Given the description of an element on the screen output the (x, y) to click on. 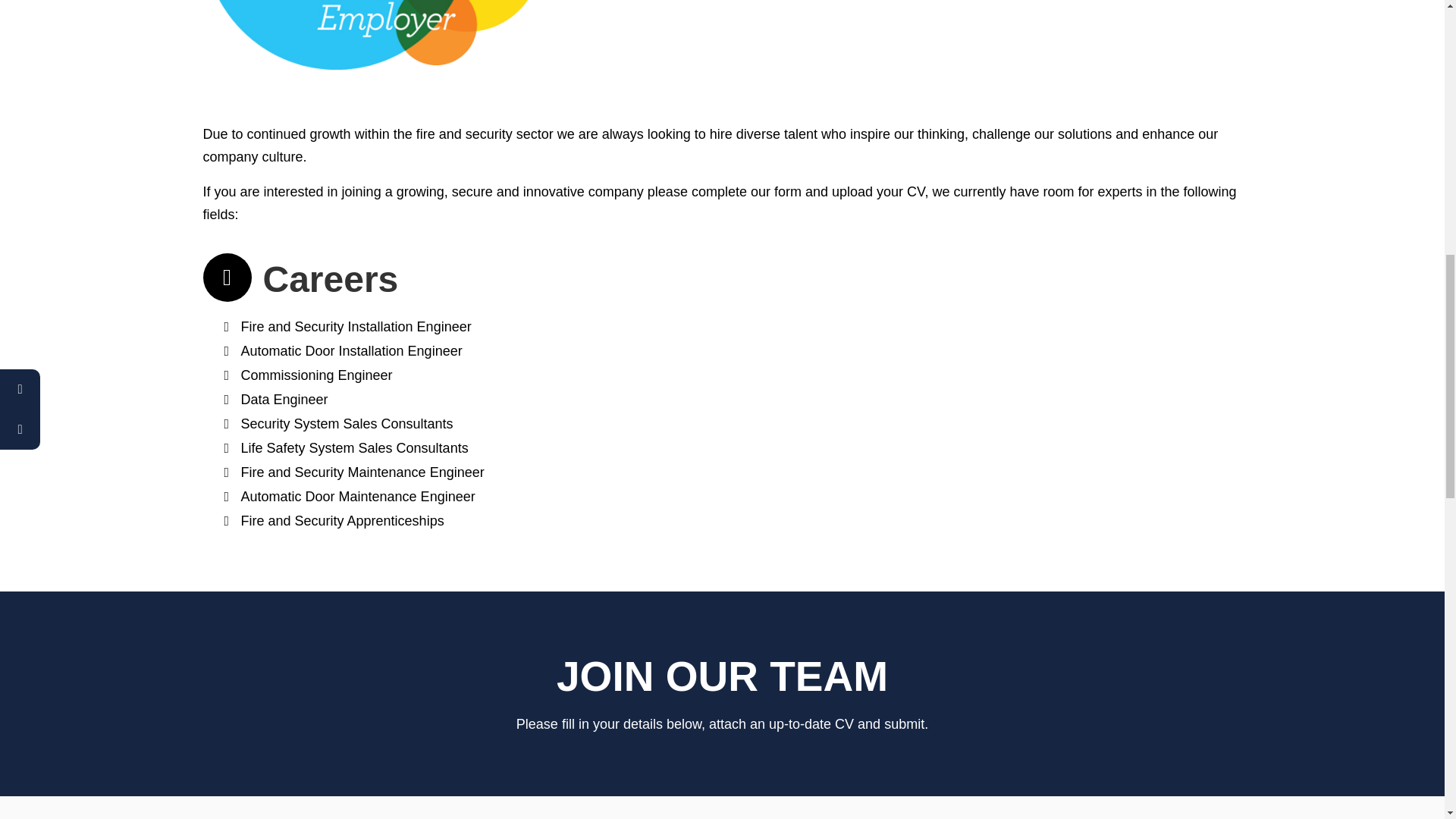
LIVING WAGE EMPLOYEE (371, 34)
